Given the description of an element on the screen output the (x, y) to click on. 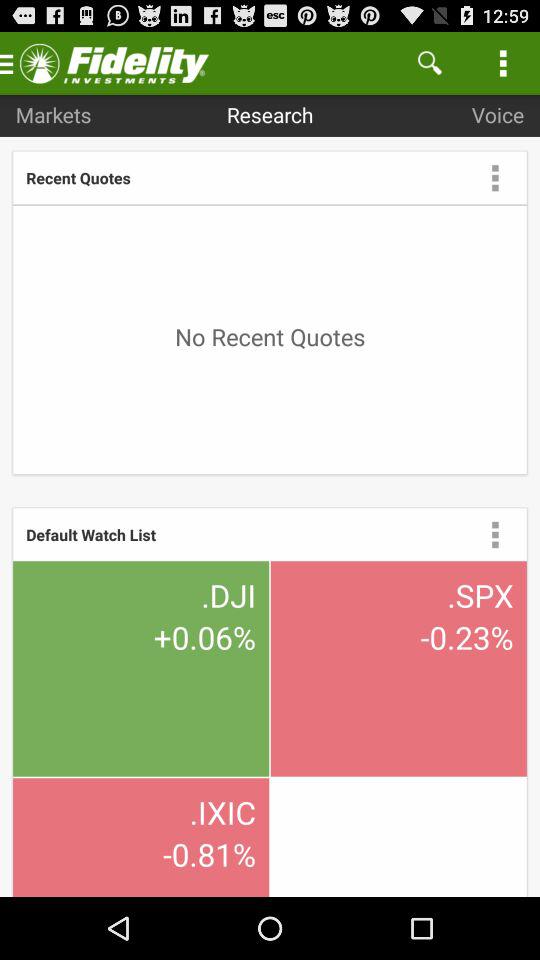
select the markets (53, 114)
